Given the description of an element on the screen output the (x, y) to click on. 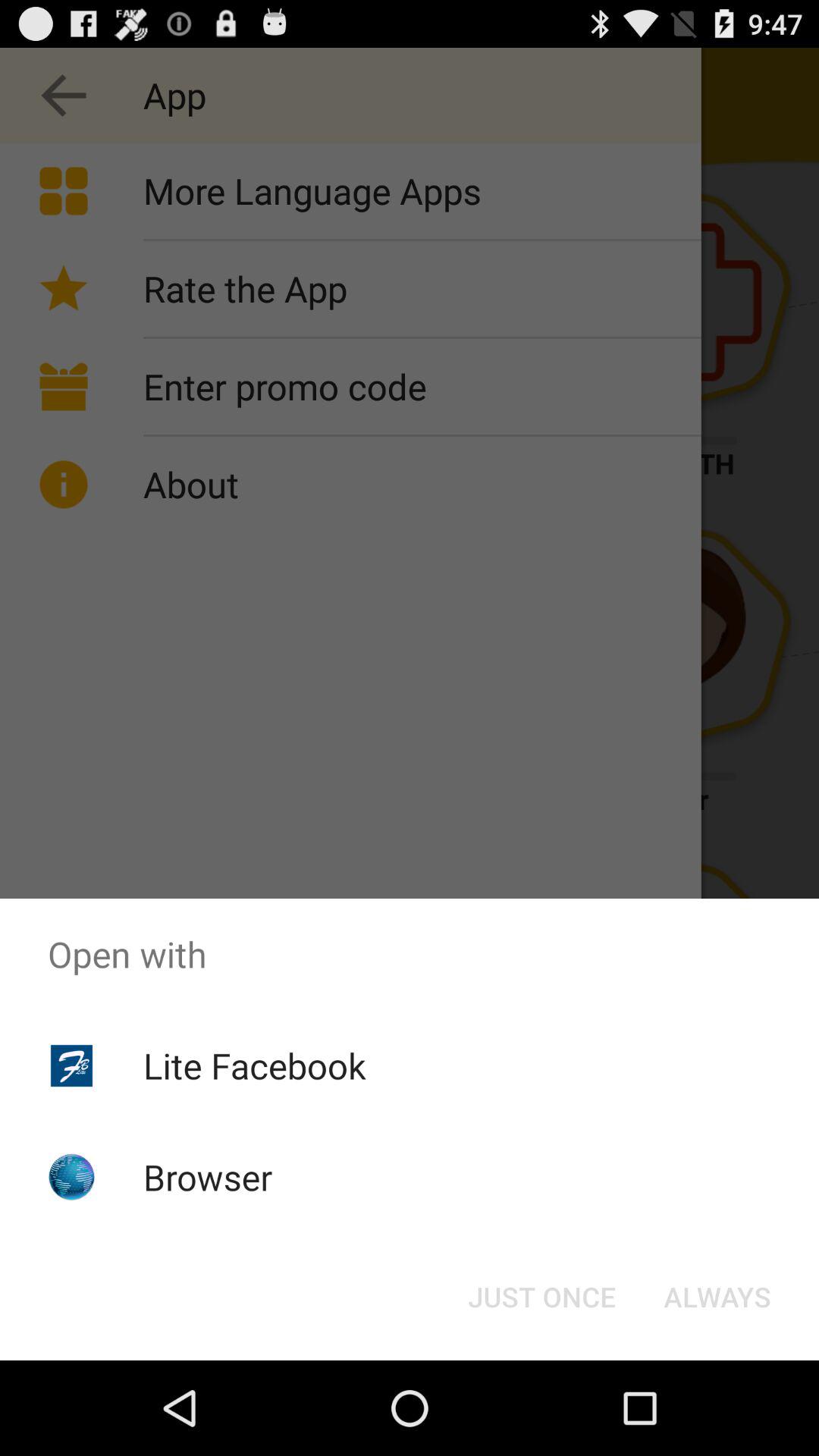
turn on item to the right of just once button (717, 1296)
